Given the description of an element on the screen output the (x, y) to click on. 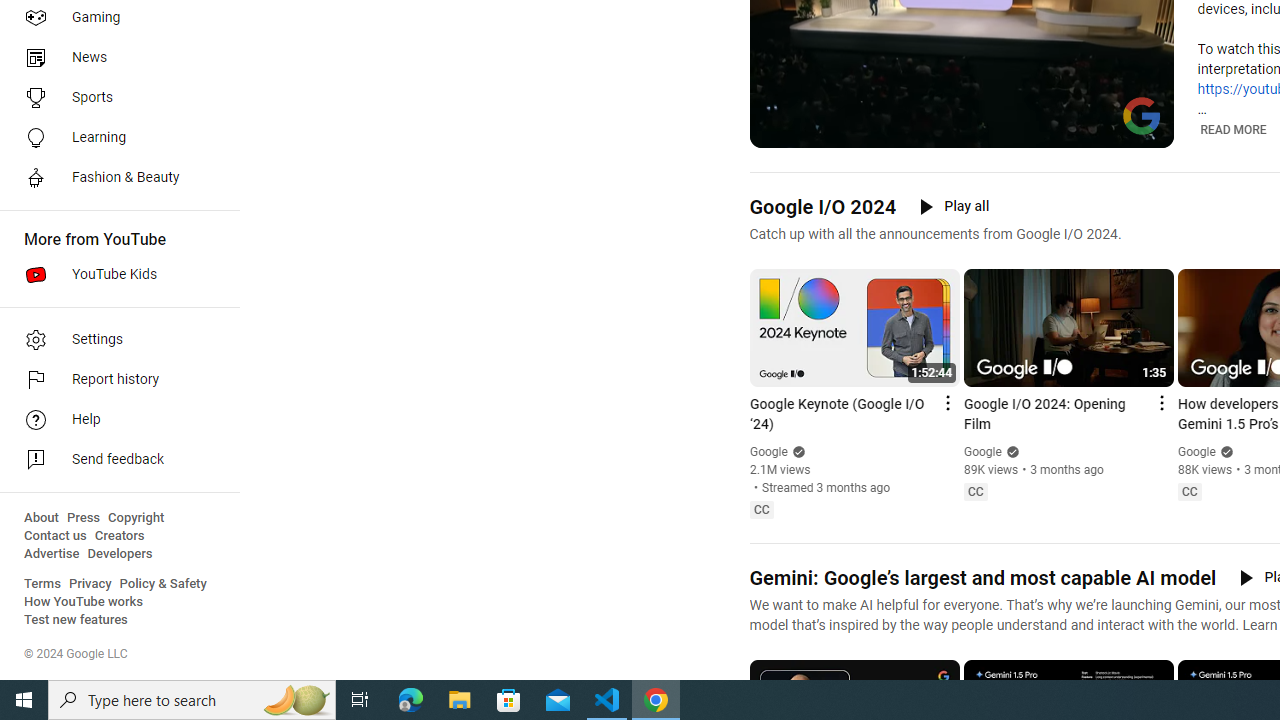
About (41, 518)
Developers (120, 554)
Google (1197, 451)
Test new features (76, 620)
Sports (113, 97)
Creators (118, 536)
Channel watermark (1141, 115)
Mute (m) (815, 130)
Fashion & Beauty (113, 177)
Channel watermark (1141, 115)
How YouTube works (83, 602)
Verified (1223, 451)
Seek slider (961, 109)
